Given the description of an element on the screen output the (x, y) to click on. 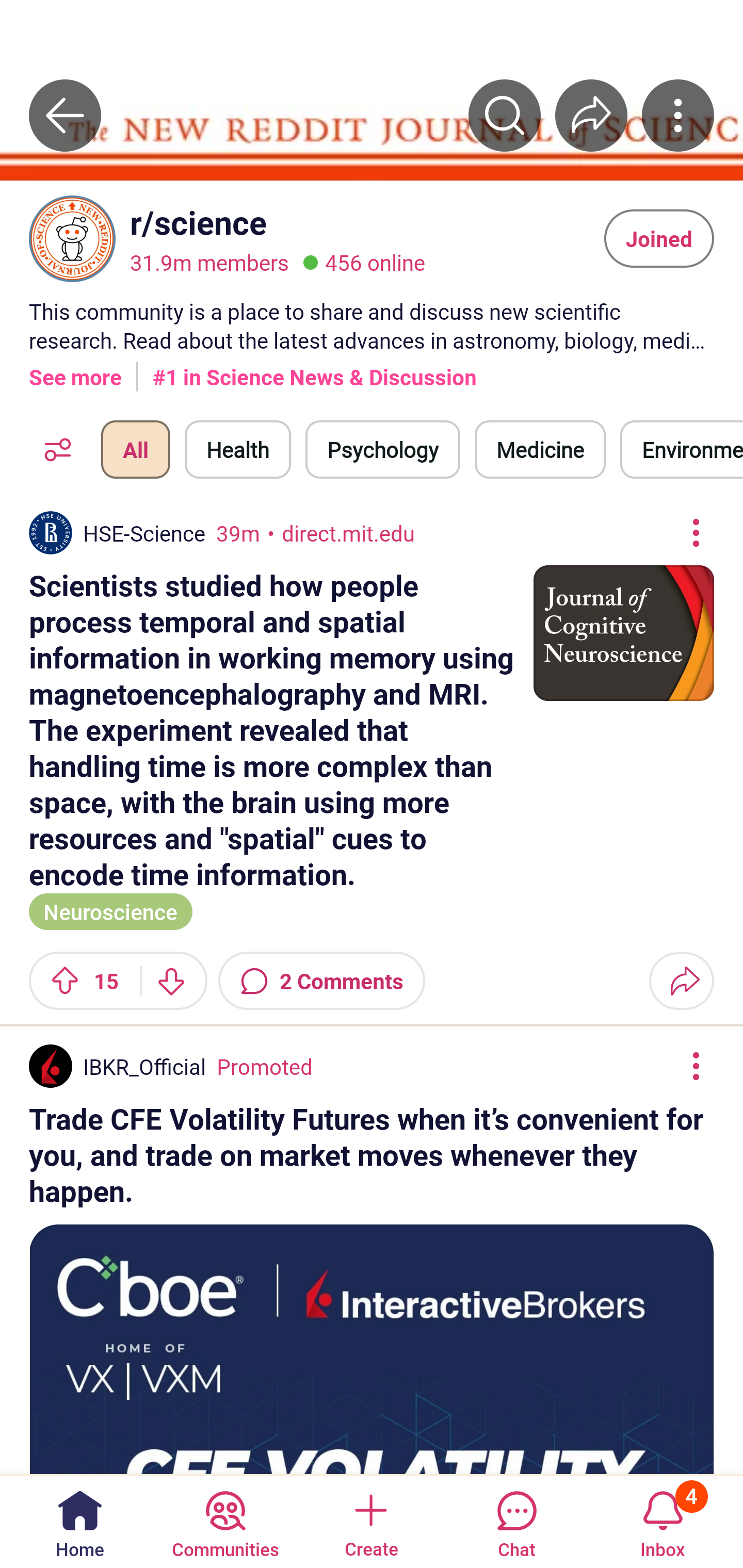
Back (64, 115)
Search r/﻿science (504, 115)
Share r/﻿science (591, 115)
More community actions (677, 115)
Feed Options (53, 449)
All (135, 449)
Health (238, 449)
Psychology (382, 449)
Medicine (539, 449)
Environment (681, 449)
Neuroscience (110, 909)
Home (80, 1520)
Communities (225, 1520)
Create a post Create (370, 1520)
Chat (516, 1520)
Inbox, has 4 notifications 4 Inbox (662, 1520)
